Given the description of an element on the screen output the (x, y) to click on. 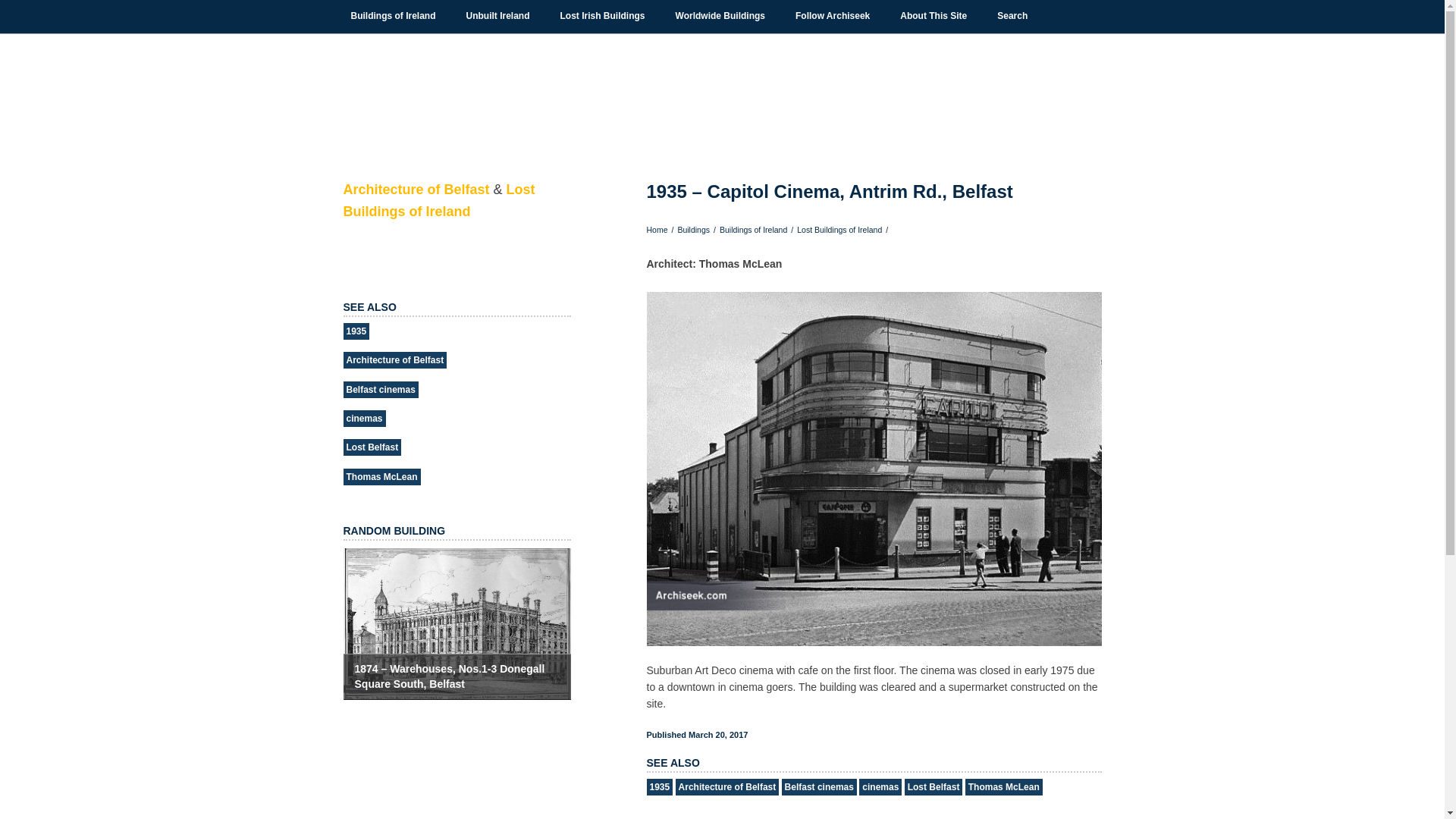
Buildings of Ireland (392, 16)
Worldwide Buildings (720, 16)
Unbuilt Ireland (497, 16)
Buildings of Ireland (392, 16)
Lost Buildings of Ireland (602, 16)
